Given the description of an element on the screen output the (x, y) to click on. 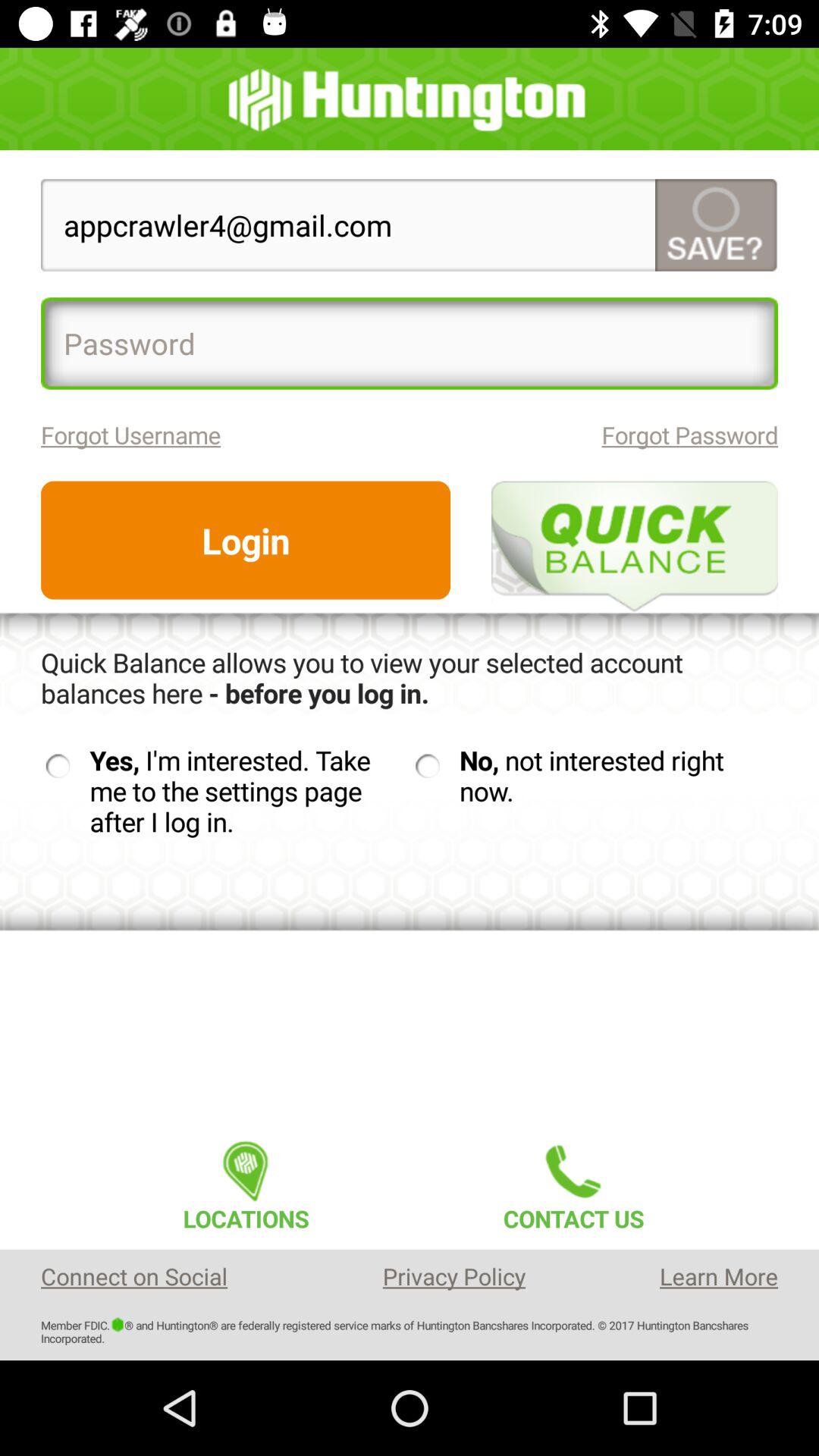
open the item above privacy policy icon (573, 1181)
